Given the description of an element on the screen output the (x, y) to click on. 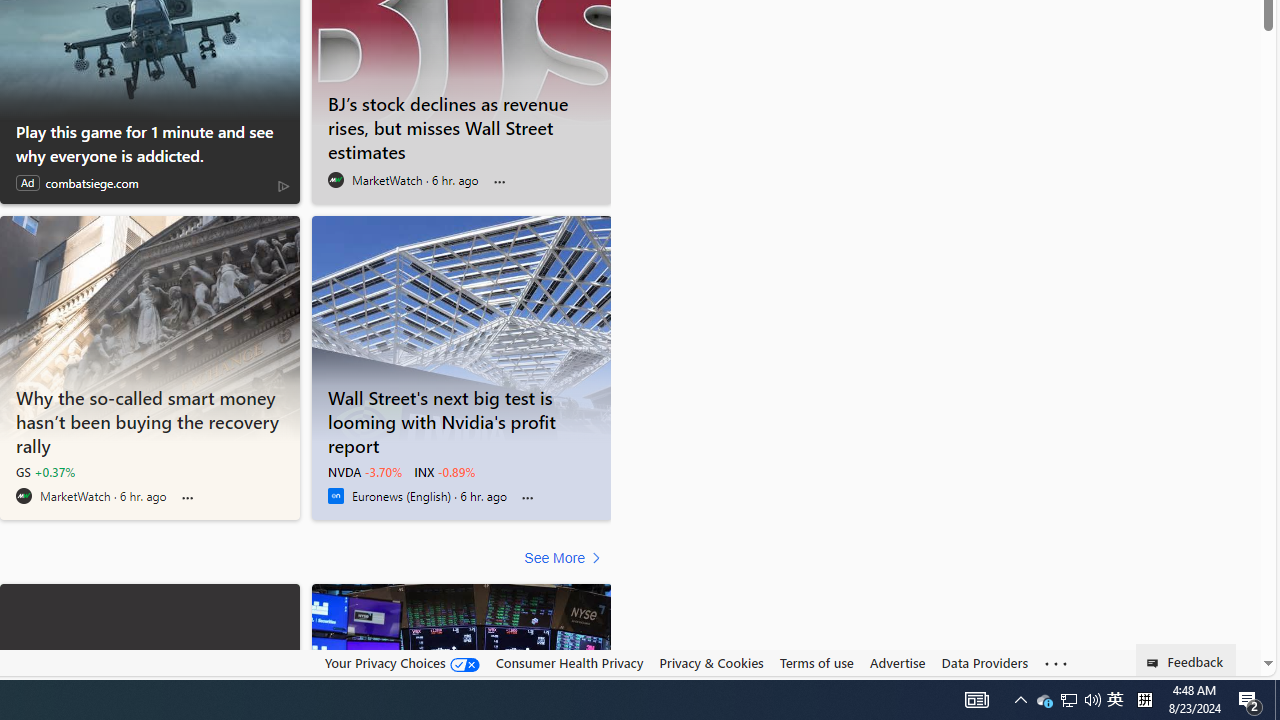
Your Privacy Choices (401, 663)
AdChoices (283, 186)
